Given the description of an element on the screen output the (x, y) to click on. 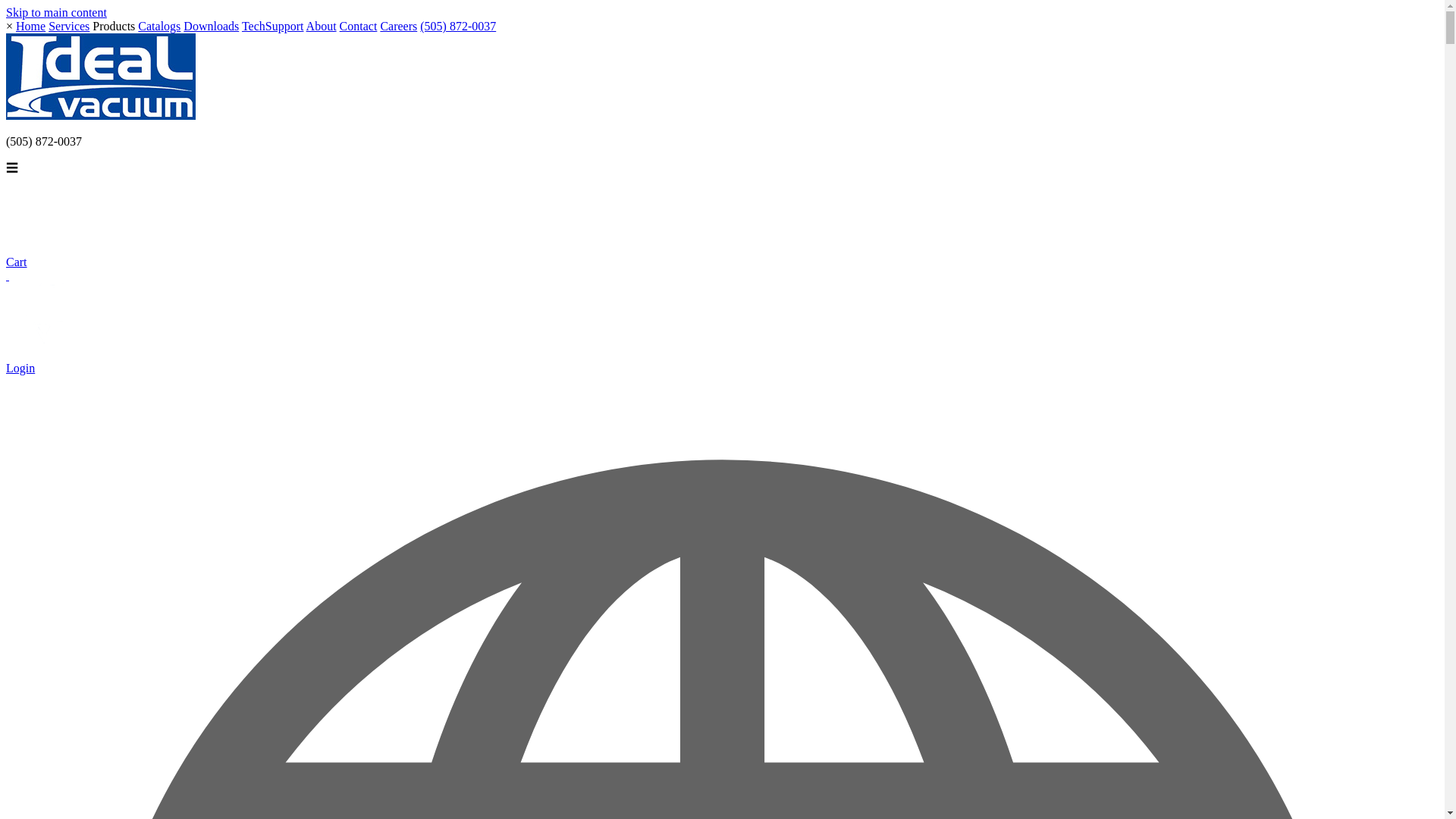
Downloads (210, 25)
TechSupport (272, 25)
About (320, 25)
Skip to main content (55, 11)
Services (68, 25)
Careers (398, 25)
Products (114, 25)
Contact (358, 25)
Home (30, 25)
Catalogs (159, 25)
